Given the description of an element on the screen output the (x, y) to click on. 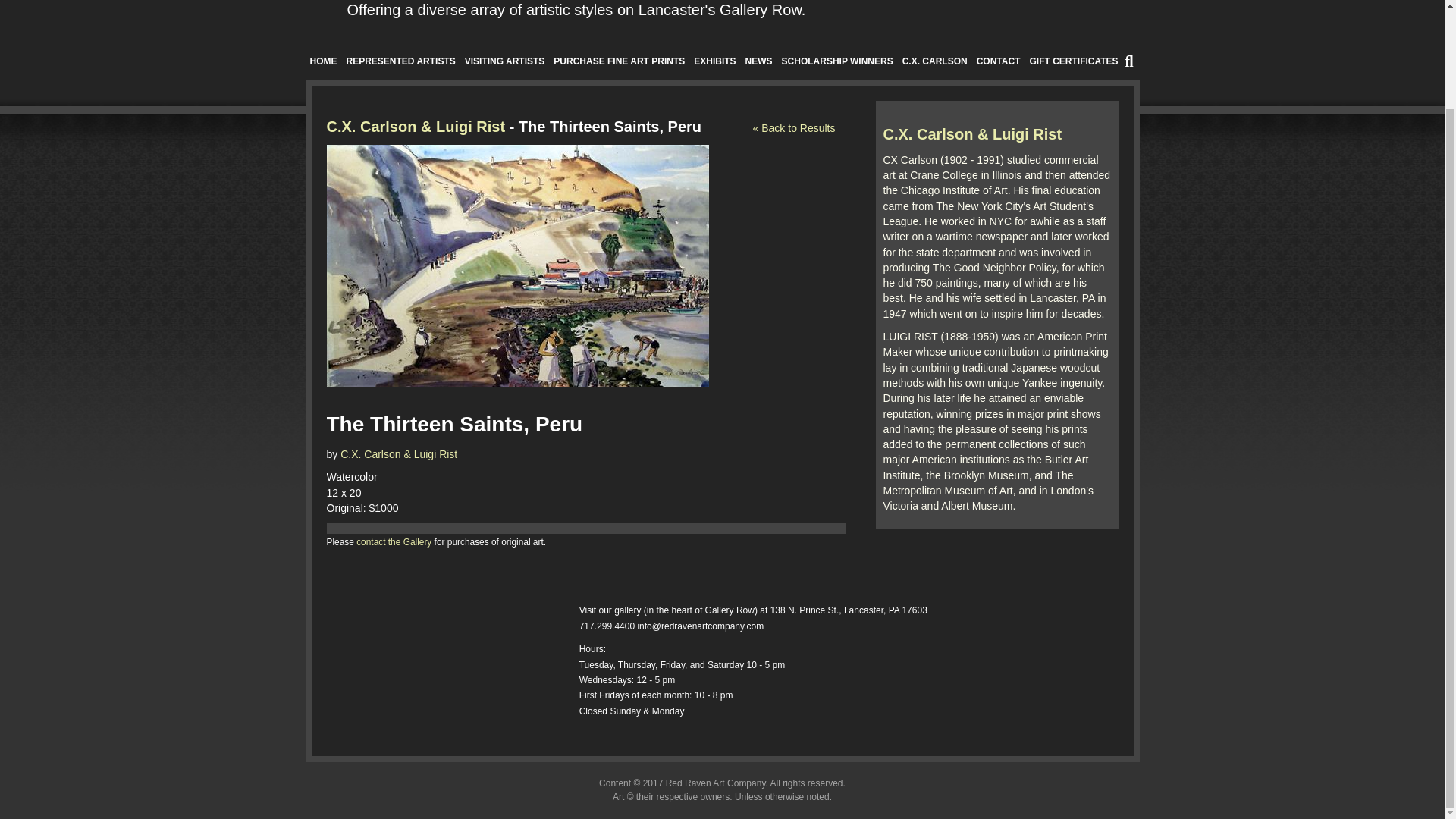
SCHOLARSHIP WINNERS (837, 61)
C.X. CARLSON (935, 61)
NEWS (759, 61)
contact the Gallery (393, 542)
PURCHASE FINE ART PRINTS (618, 61)
HOME (322, 61)
REPRESENTED ARTISTS (400, 61)
VISITING ARTISTS (505, 61)
GIFT CERTIFICATES (1073, 61)
EXHIBITS (713, 61)
CONTACT (998, 61)
